Given the description of an element on the screen output the (x, y) to click on. 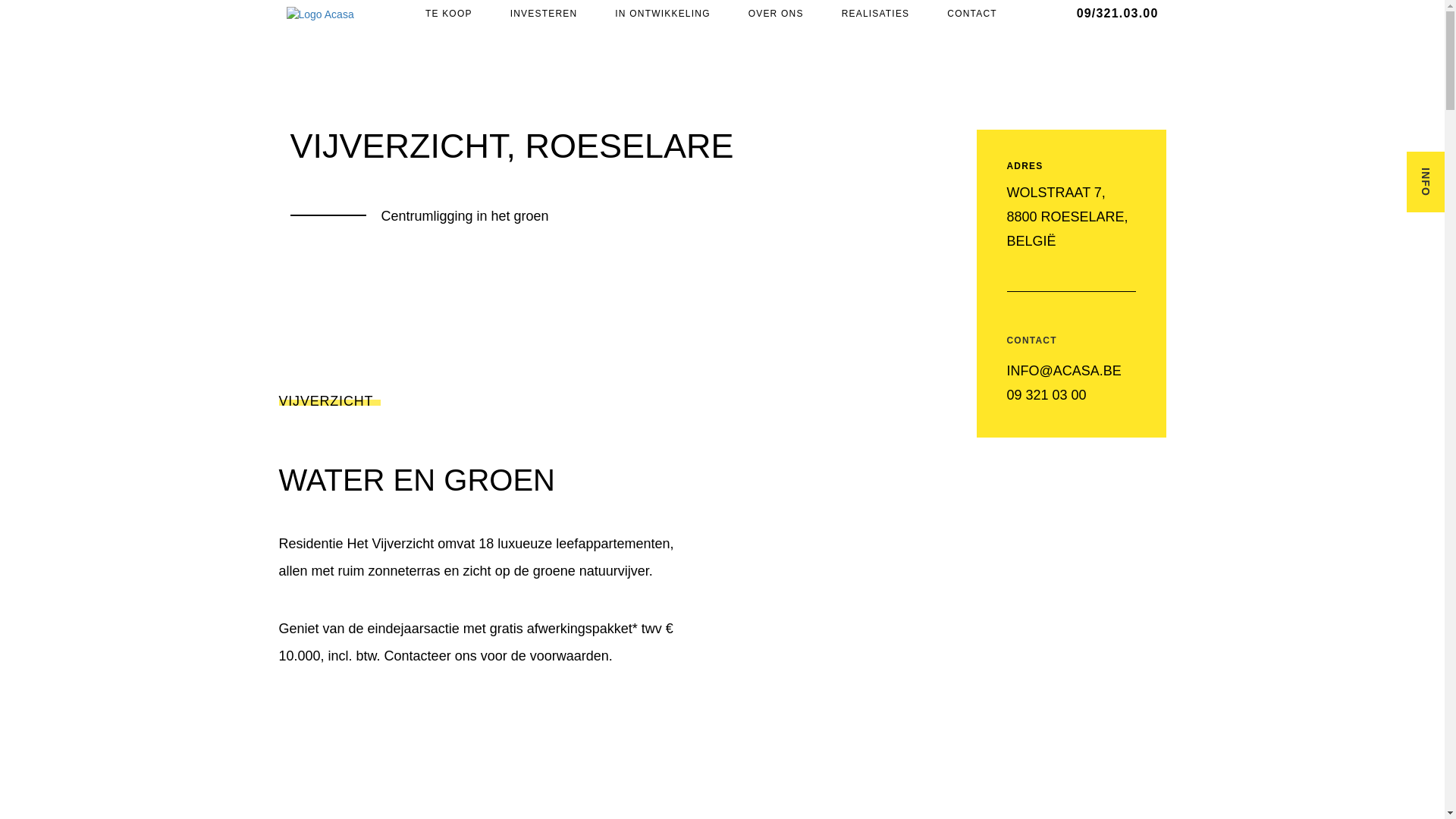
IN ONTWIKKELING Element type: text (662, 14)
CONTACT Element type: text (971, 14)
TE KOOP Element type: text (448, 14)
INVESTEREN Element type: text (543, 14)
OVER ONS Element type: text (776, 14)
09/321.03.00 Element type: text (1112, 13)
REALISATIES Element type: text (875, 14)
